Given the description of an element on the screen output the (x, y) to click on. 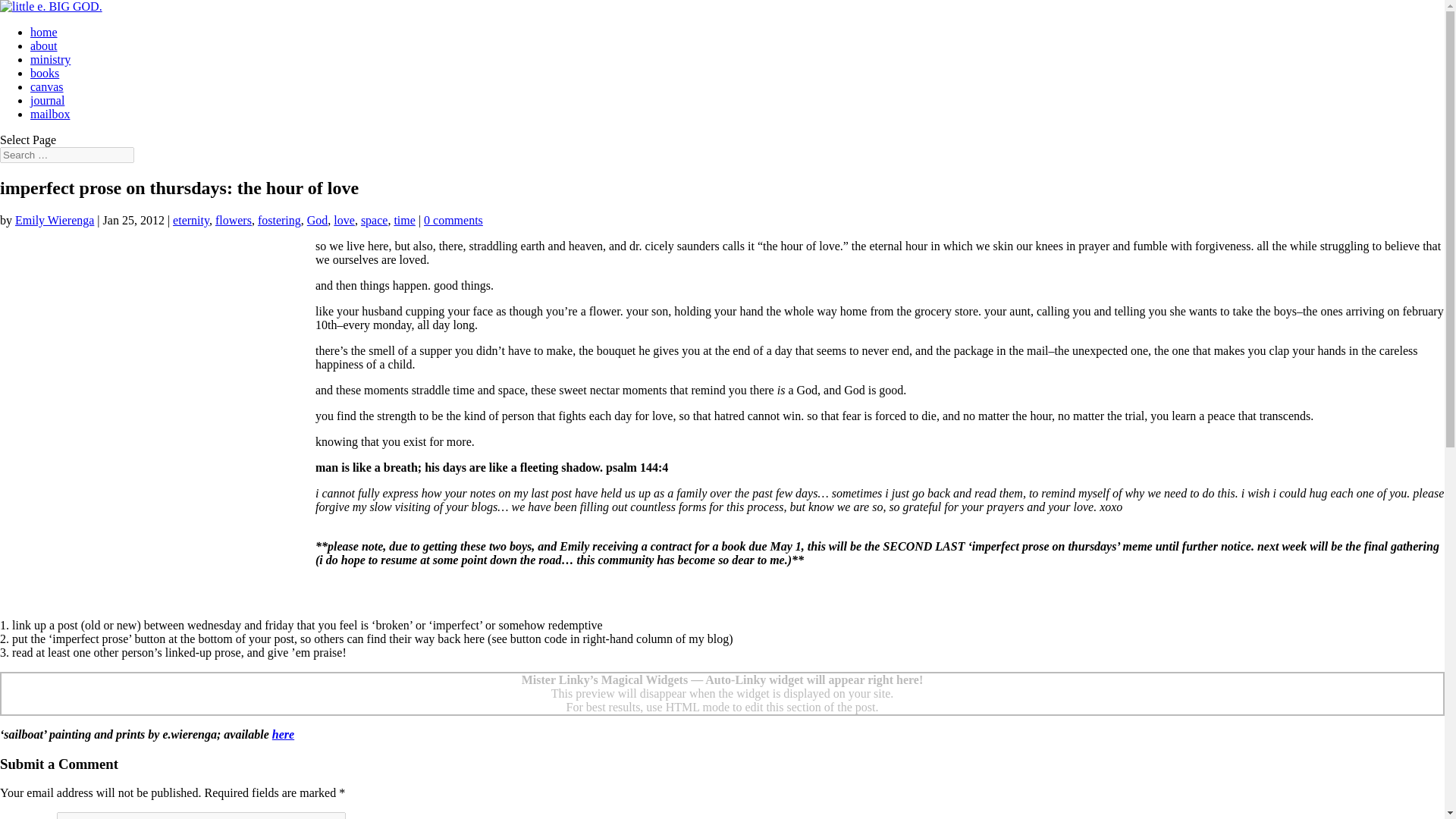
Search for: (66, 154)
home (44, 31)
about (44, 45)
ministry (49, 59)
time (403, 219)
fostering (279, 219)
love (344, 219)
mailbox (49, 113)
0 comments (453, 219)
here (283, 734)
